Given the description of an element on the screen output the (x, y) to click on. 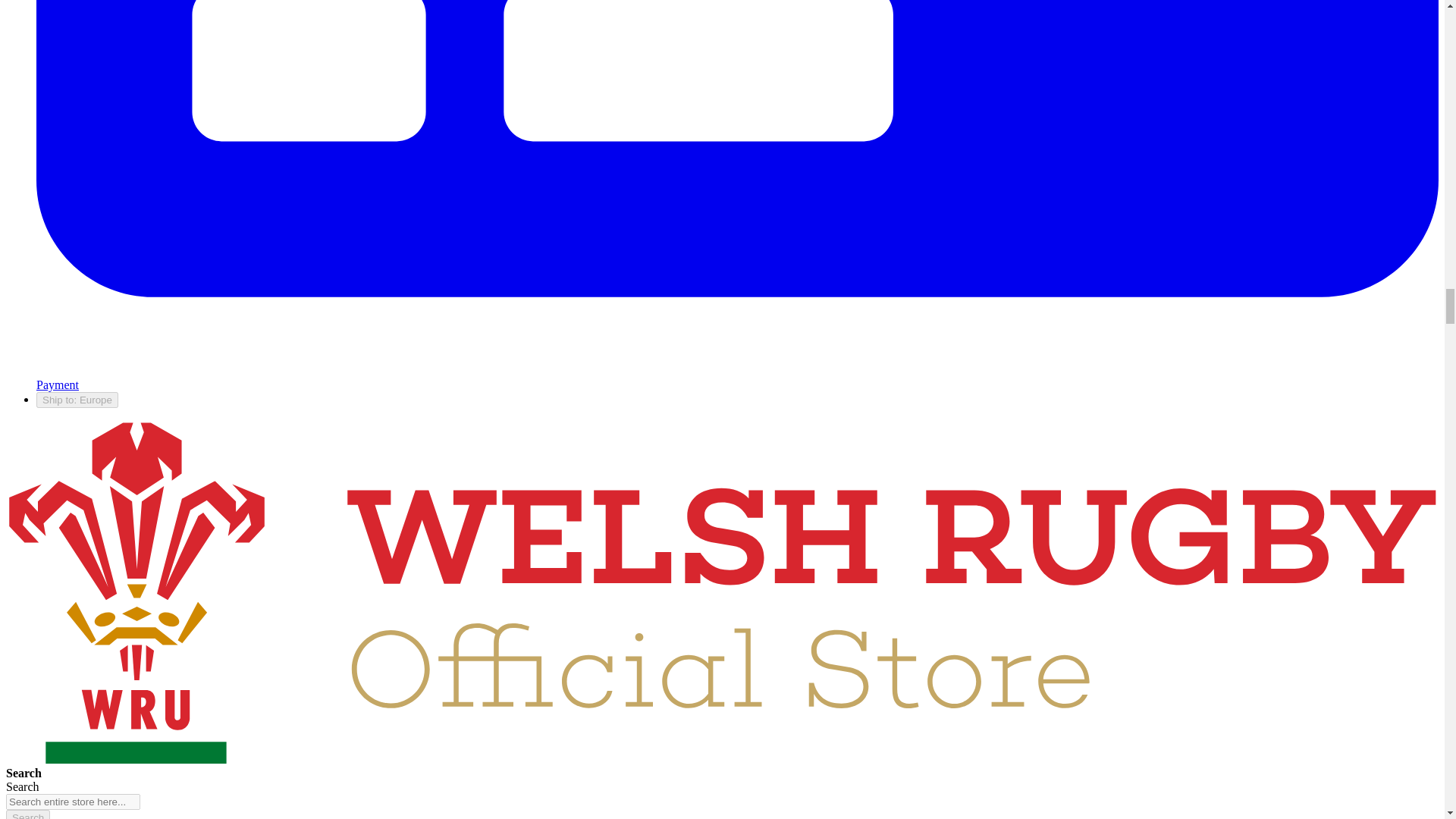
Search (27, 814)
Ship to: Europe (76, 399)
